Given the description of an element on the screen output the (x, y) to click on. 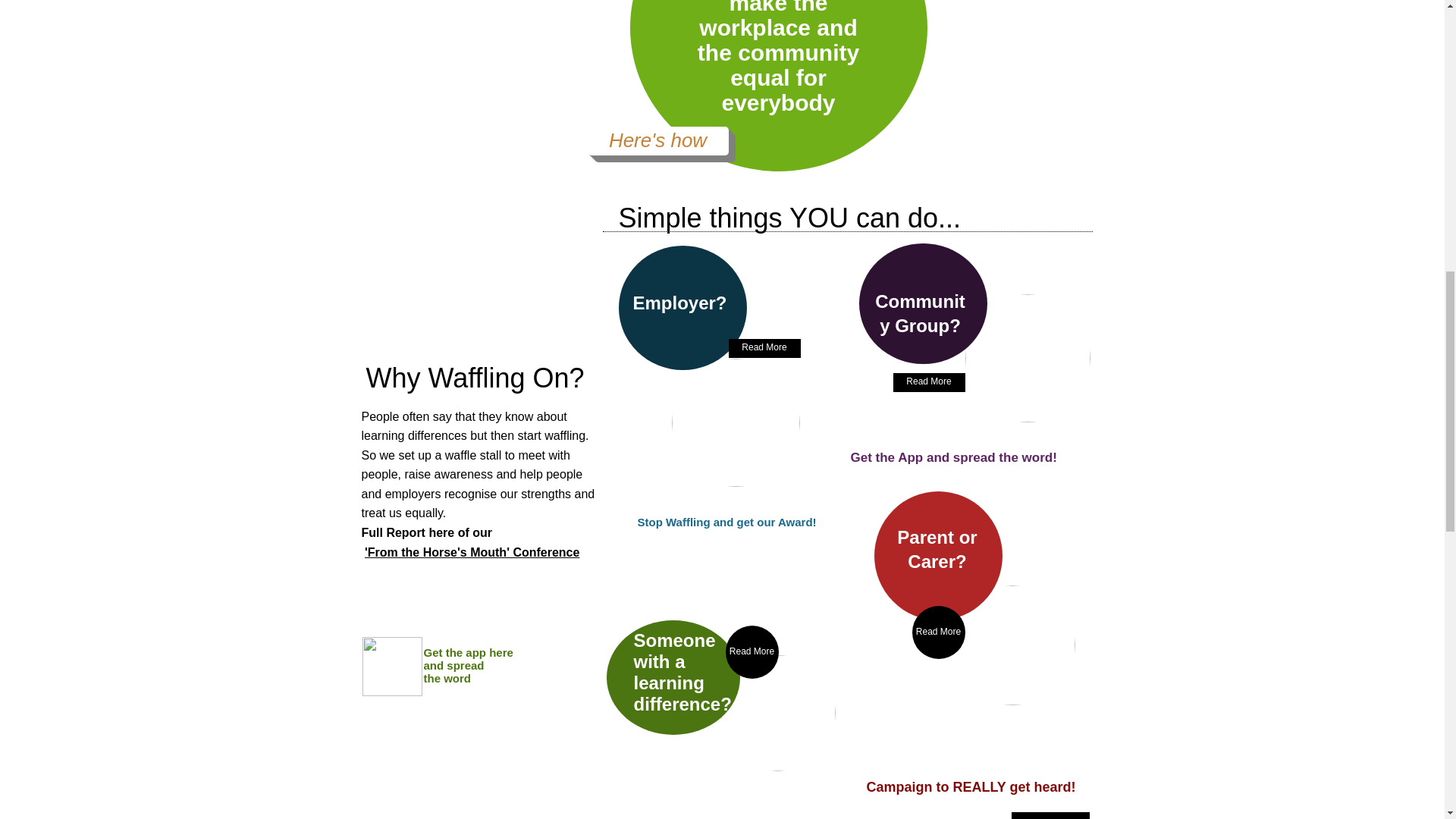
Mo Bo.jpg (1026, 358)
Read More (763, 347)
'From the Horse's Mouth' Conference (472, 552)
Read More (751, 651)
qrcode 25225466.png (392, 666)
2004-01-01 12.00.04.jpg (735, 421)
Read More (937, 632)
Read More (929, 382)
Read More (1050, 815)
Here's how (657, 140)
Waffling On banner and quiz on tablet.jpg (1011, 645)
Frank at Edinburgh 2.jpg (777, 713)
External YouTube (473, 259)
